Given the description of an element on the screen output the (x, y) to click on. 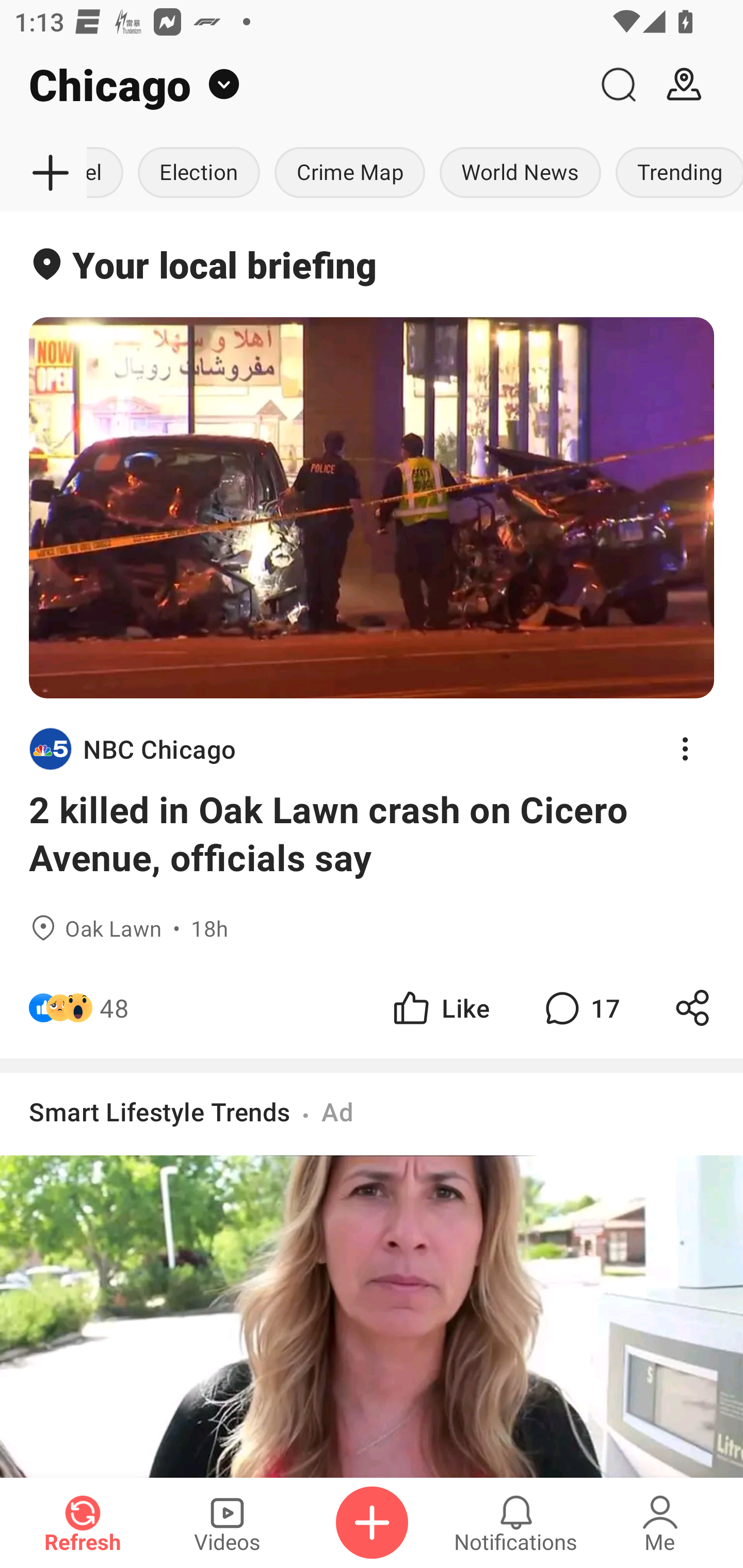
Chicago (292, 84)
Election (198, 172)
Crime Map (349, 172)
World News (520, 172)
Trending (675, 172)
48 (114, 1007)
Like (439, 1007)
17 (579, 1007)
Smart Lifestyle Trends (159, 1111)
Videos (227, 1522)
Notifications (516, 1522)
Me (659, 1522)
